Given the description of an element on the screen output the (x, y) to click on. 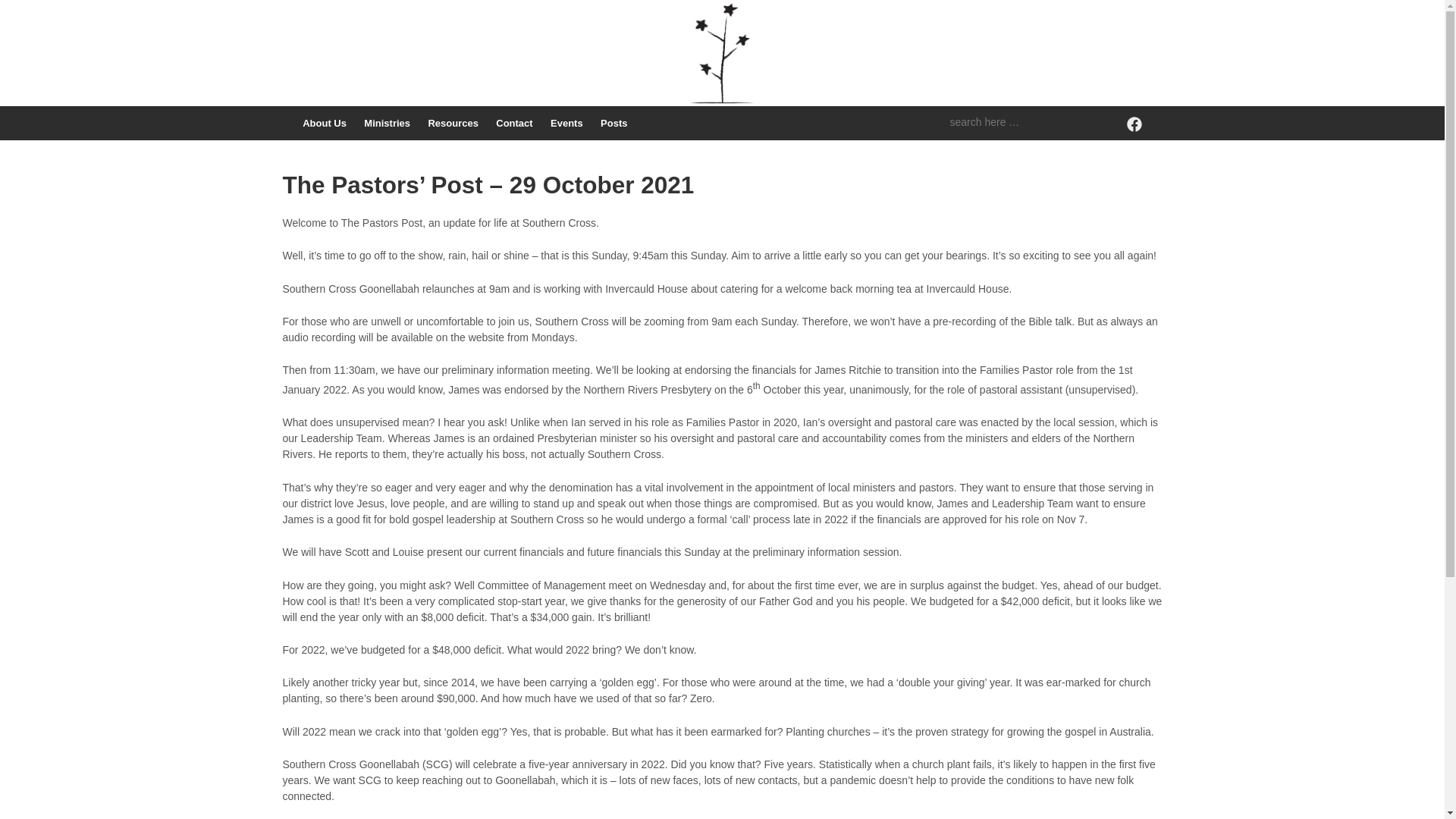
Events (566, 123)
Contact (514, 123)
Posts (613, 123)
Resources (453, 123)
About Us (324, 123)
Ministries (387, 123)
Go (15, 11)
